Given the description of an element on the screen output the (x, y) to click on. 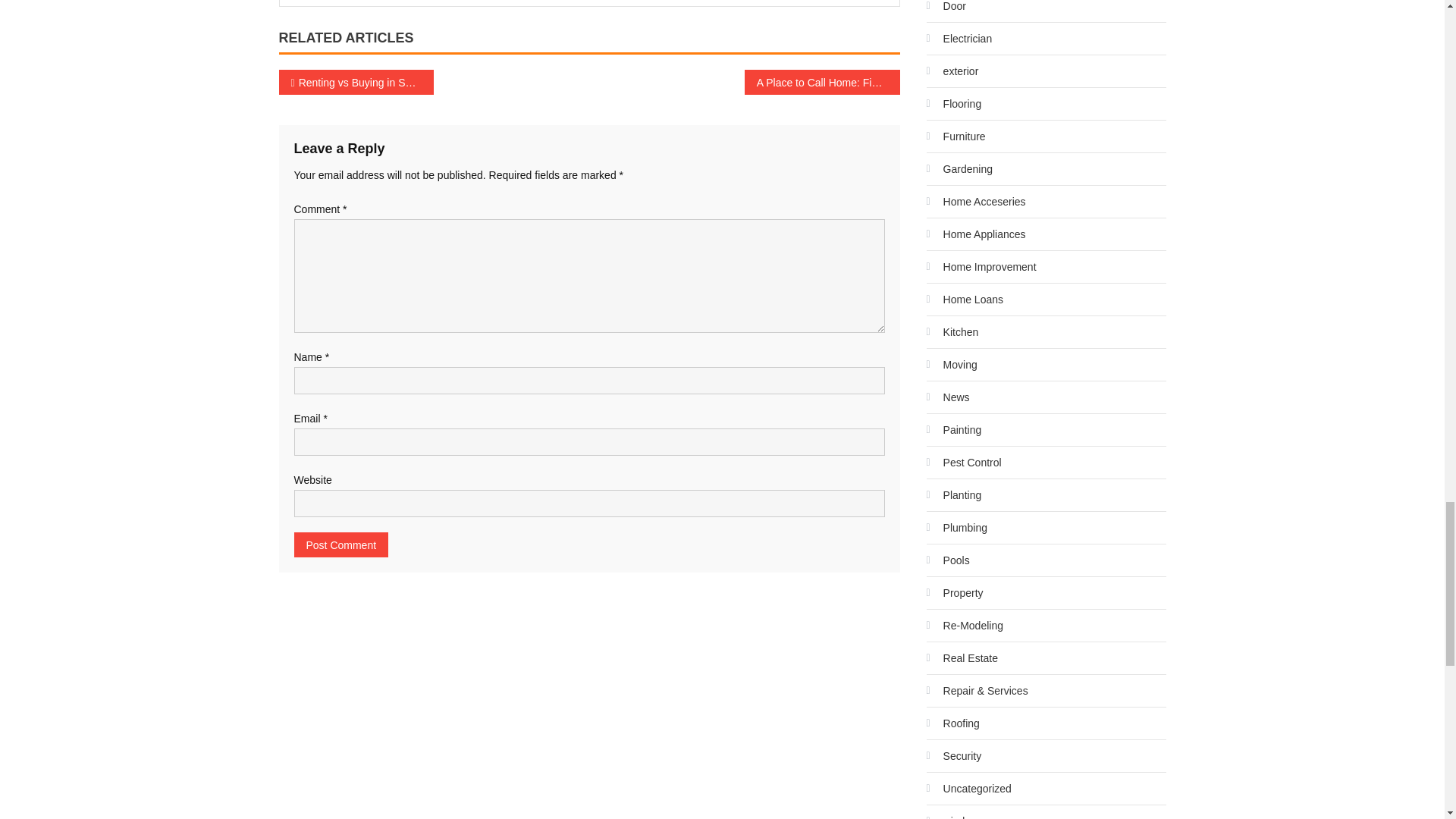
Post Comment (341, 544)
Post Comment (341, 544)
Renting vs Buying in Seattle (356, 82)
